Given the description of an element on the screen output the (x, y) to click on. 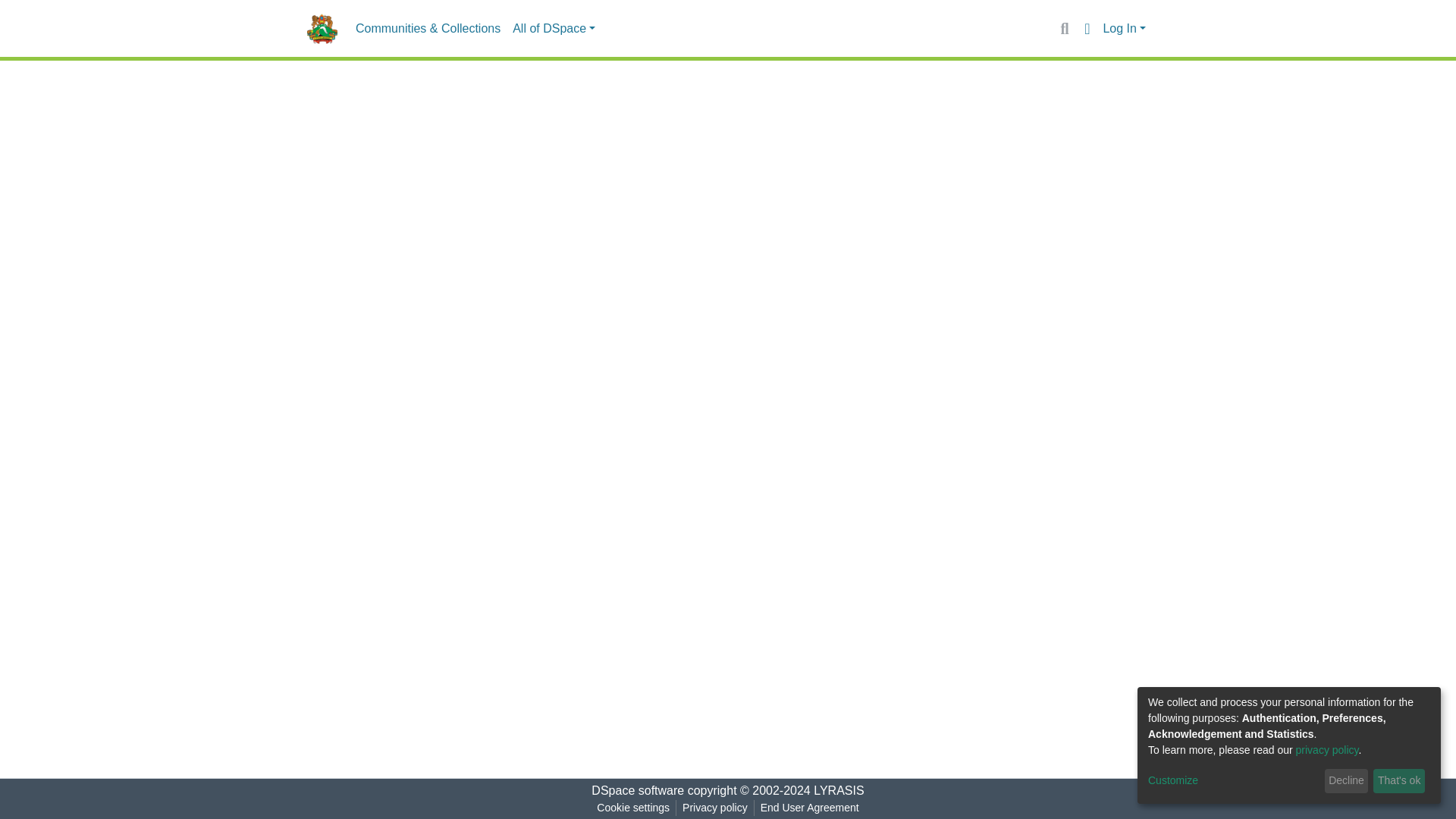
DSpace software (637, 789)
privacy policy (1326, 749)
Search (1064, 28)
Customize (1233, 780)
End User Agreement (809, 807)
All of DSpace (553, 28)
LYRASIS (838, 789)
Privacy policy (715, 807)
Decline (1346, 781)
That's ok (1399, 781)
Cookie settings (633, 807)
Log In (1123, 28)
Language switch (1086, 28)
